Given the description of an element on the screen output the (x, y) to click on. 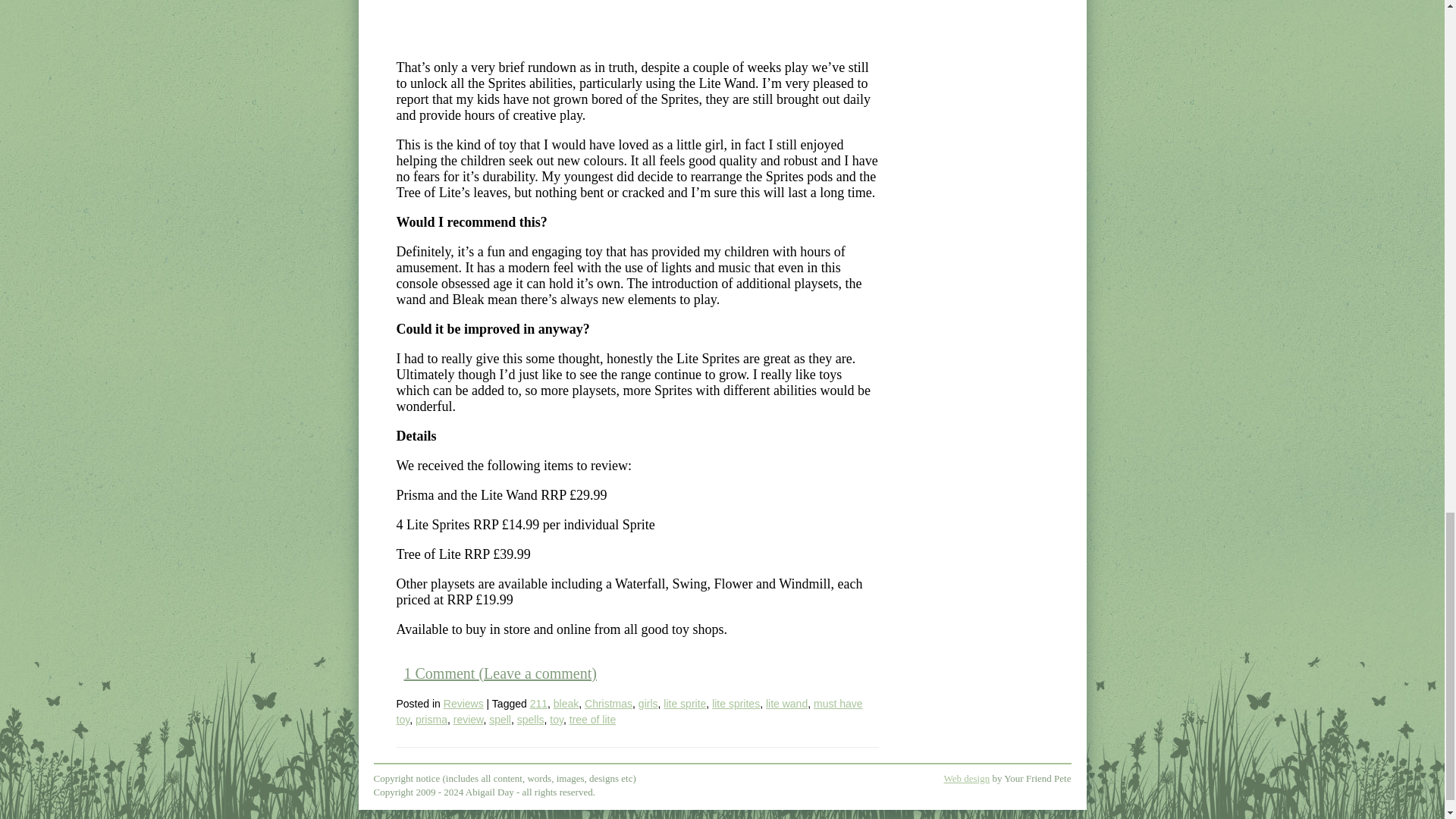
toy (556, 719)
lite wand (786, 703)
spell (500, 719)
Christmas (608, 703)
prisma (430, 719)
girls (648, 703)
spells (530, 719)
lite sprite (684, 703)
211 (538, 703)
review (467, 719)
